Given the description of an element on the screen output the (x, y) to click on. 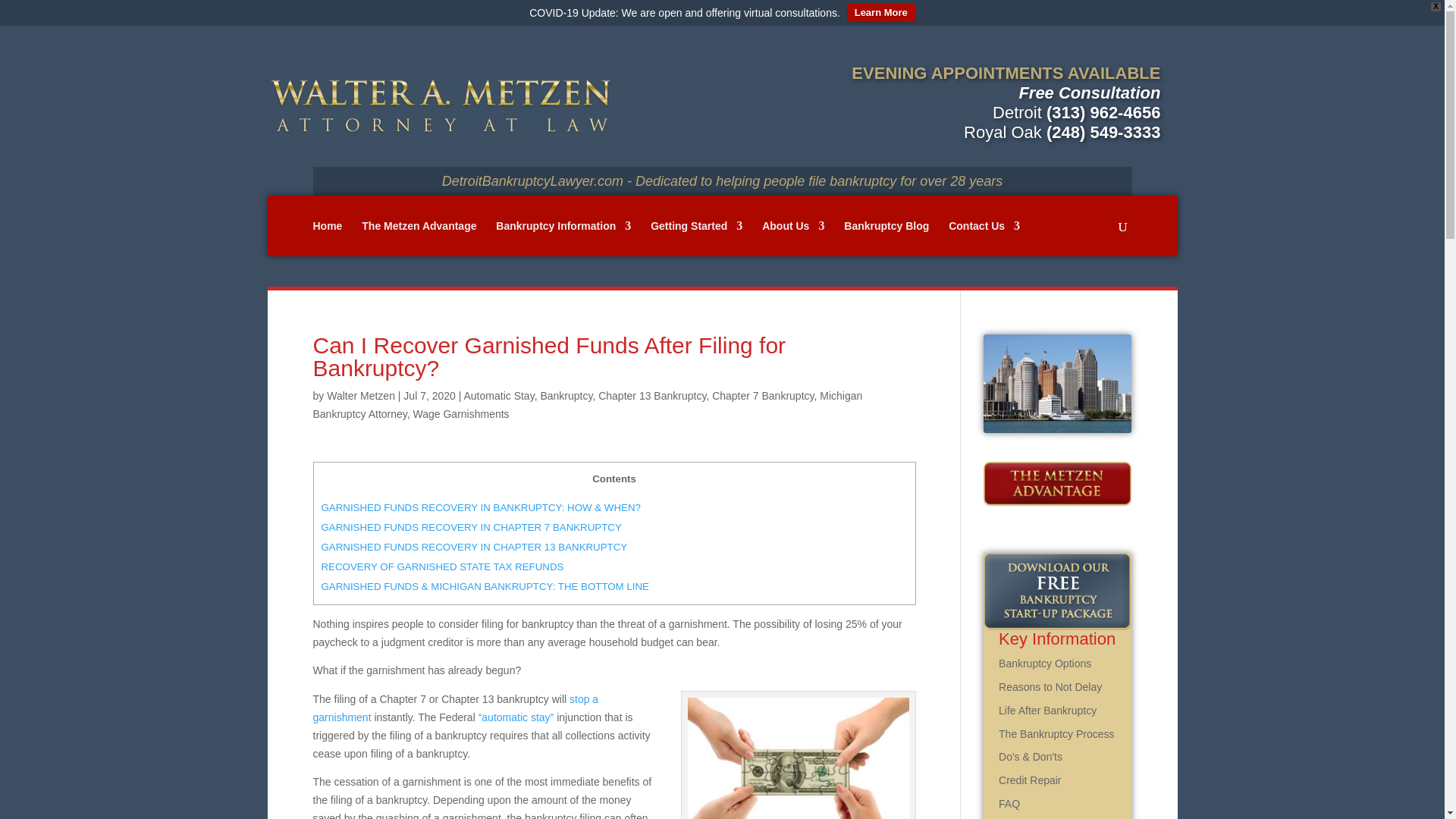
Posts by Walter Metzen (360, 395)
About Us (792, 238)
Learn More (881, 13)
Walter Metzen (360, 395)
Chapter 13 Bankruptcy (652, 395)
Chapter 7 Bankruptcy (762, 395)
Michigan Bankruptcy Attorney (587, 404)
Getting Started (696, 238)
Bankruptcy Information (563, 238)
Automatic Stay (499, 395)
